Given the description of an element on the screen output the (x, y) to click on. 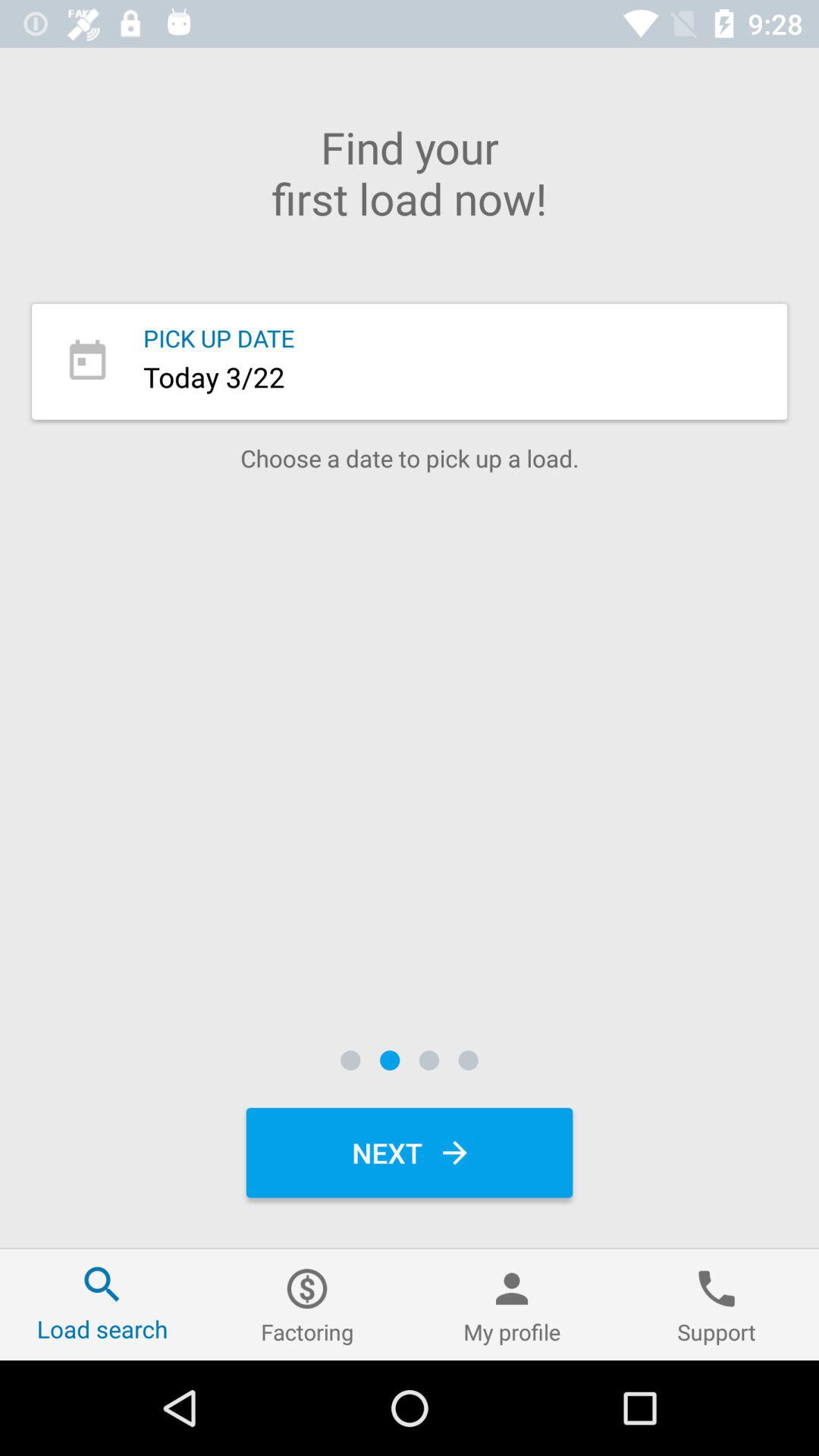
select item to the right of factoring (511, 1304)
